Given the description of an element on the screen output the (x, y) to click on. 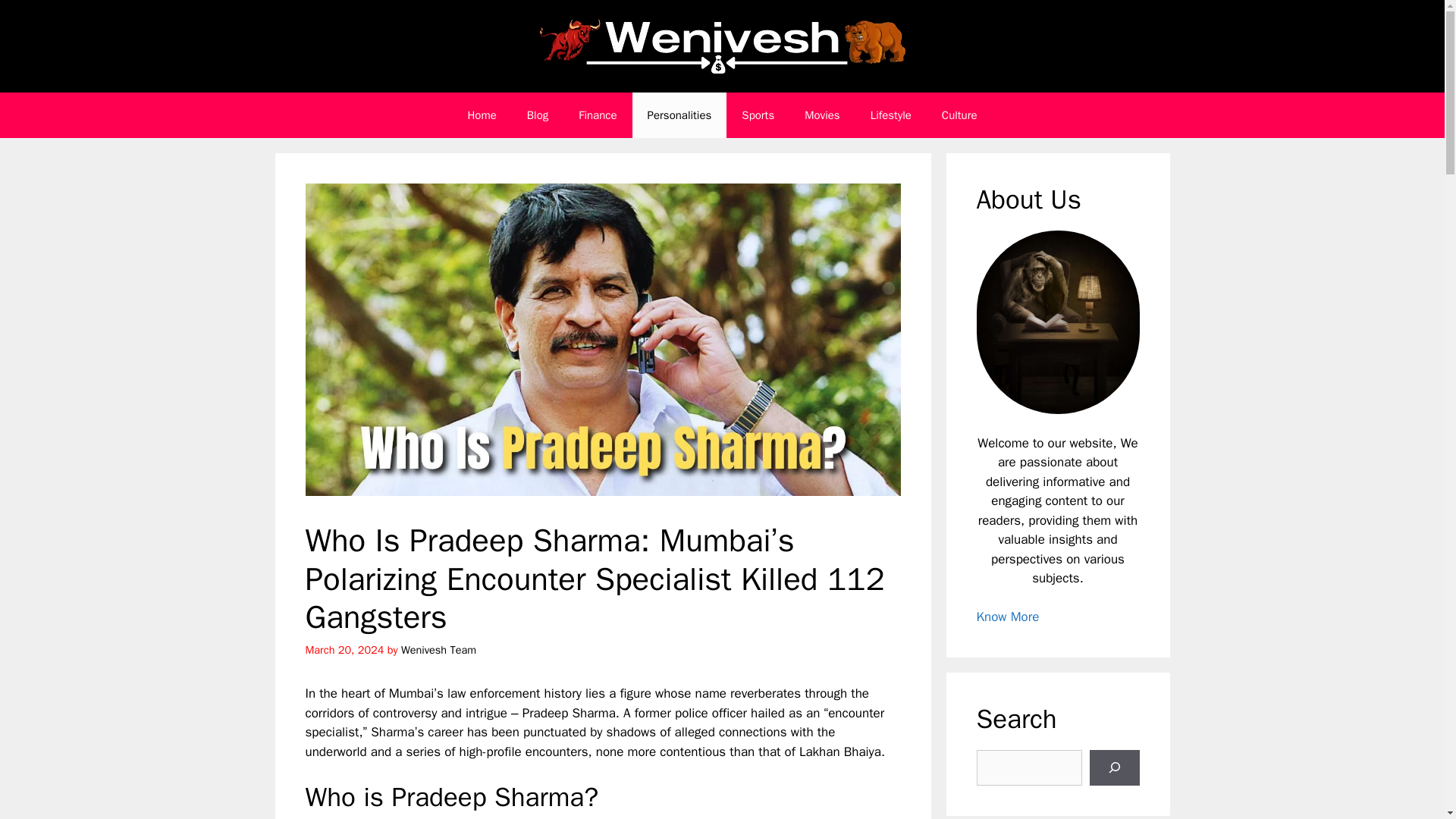
Home (481, 115)
Culture (959, 115)
Sports (757, 115)
Movies (821, 115)
Blog (537, 115)
Wenivesh Team (438, 649)
View all posts by Wenivesh Team (438, 649)
Personalities (678, 115)
Finance (597, 115)
Lifestyle (891, 115)
